Given the description of an element on the screen output the (x, y) to click on. 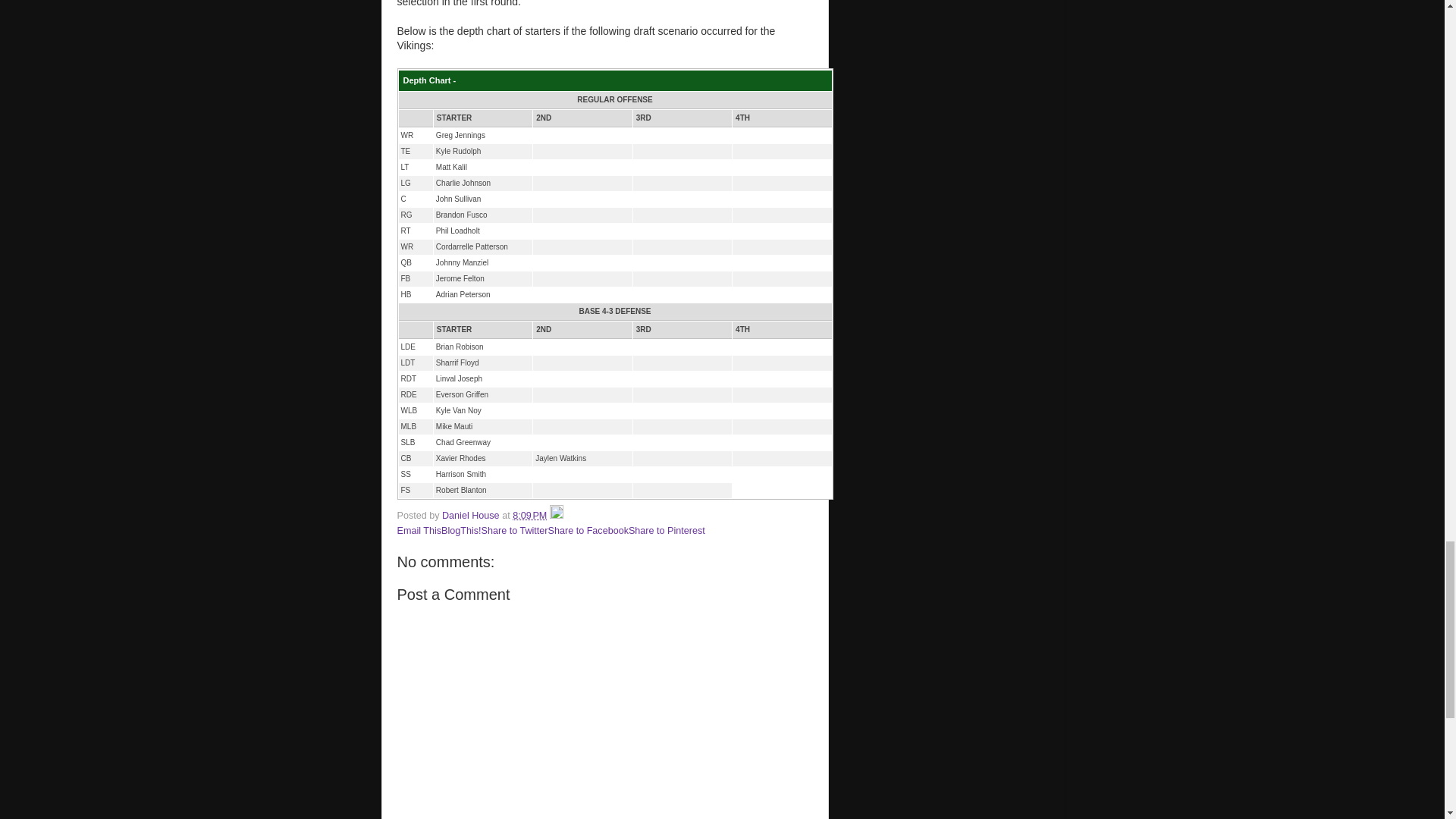
Share to Twitter (514, 530)
Share to Pinterest (666, 530)
permanent link (529, 515)
Share to Pinterest (666, 530)
Email This (419, 530)
Share to Facebook (588, 530)
Email This (419, 530)
BlogThis! (461, 530)
author profile (472, 515)
Share to Facebook (588, 530)
BlogThis! (461, 530)
Share to Twitter (514, 530)
Edit Post (556, 515)
Daniel House (472, 515)
